Given the description of an element on the screen output the (x, y) to click on. 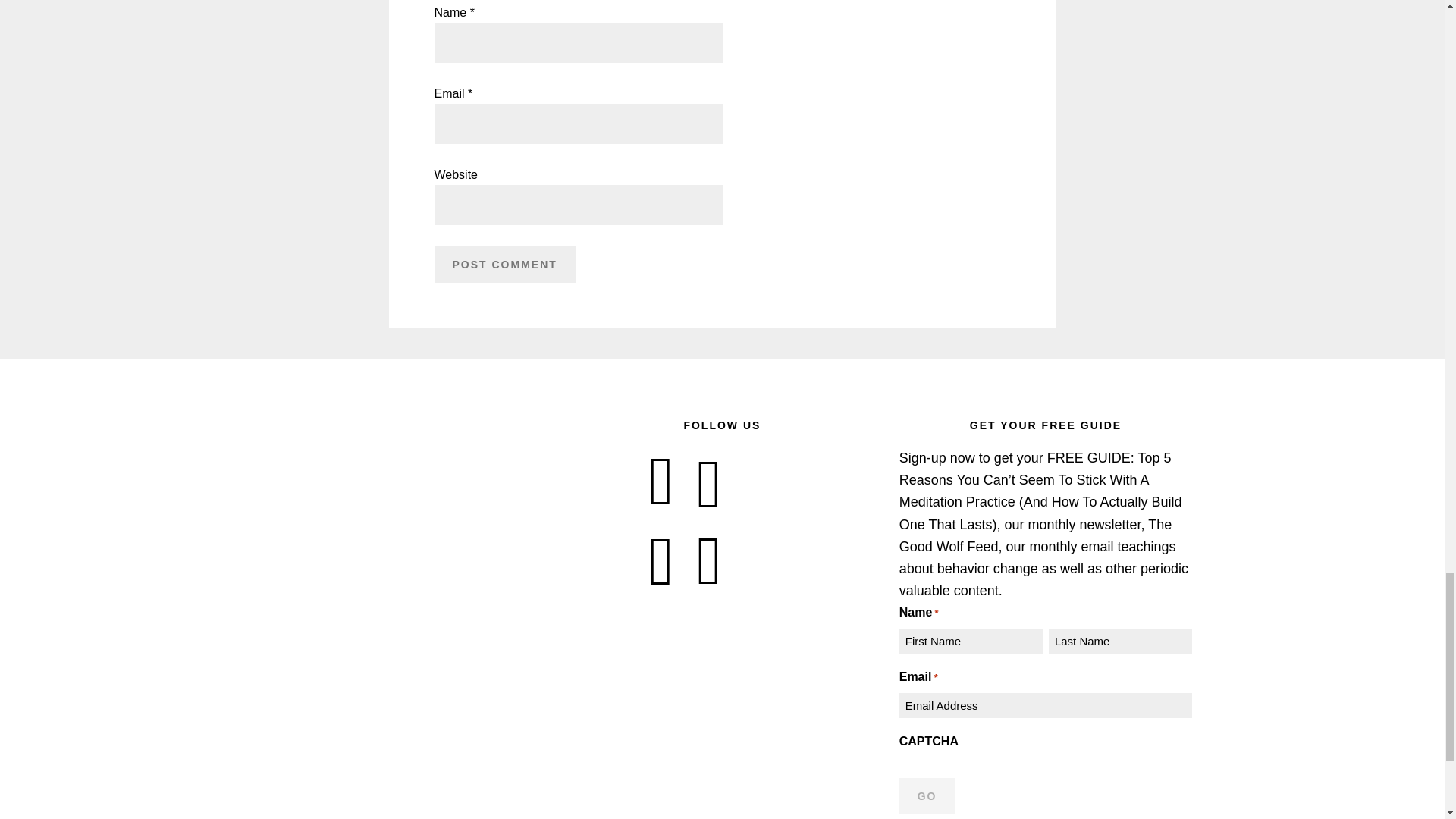
Post Comment (504, 264)
GO (927, 796)
